Given the description of an element on the screen output the (x, y) to click on. 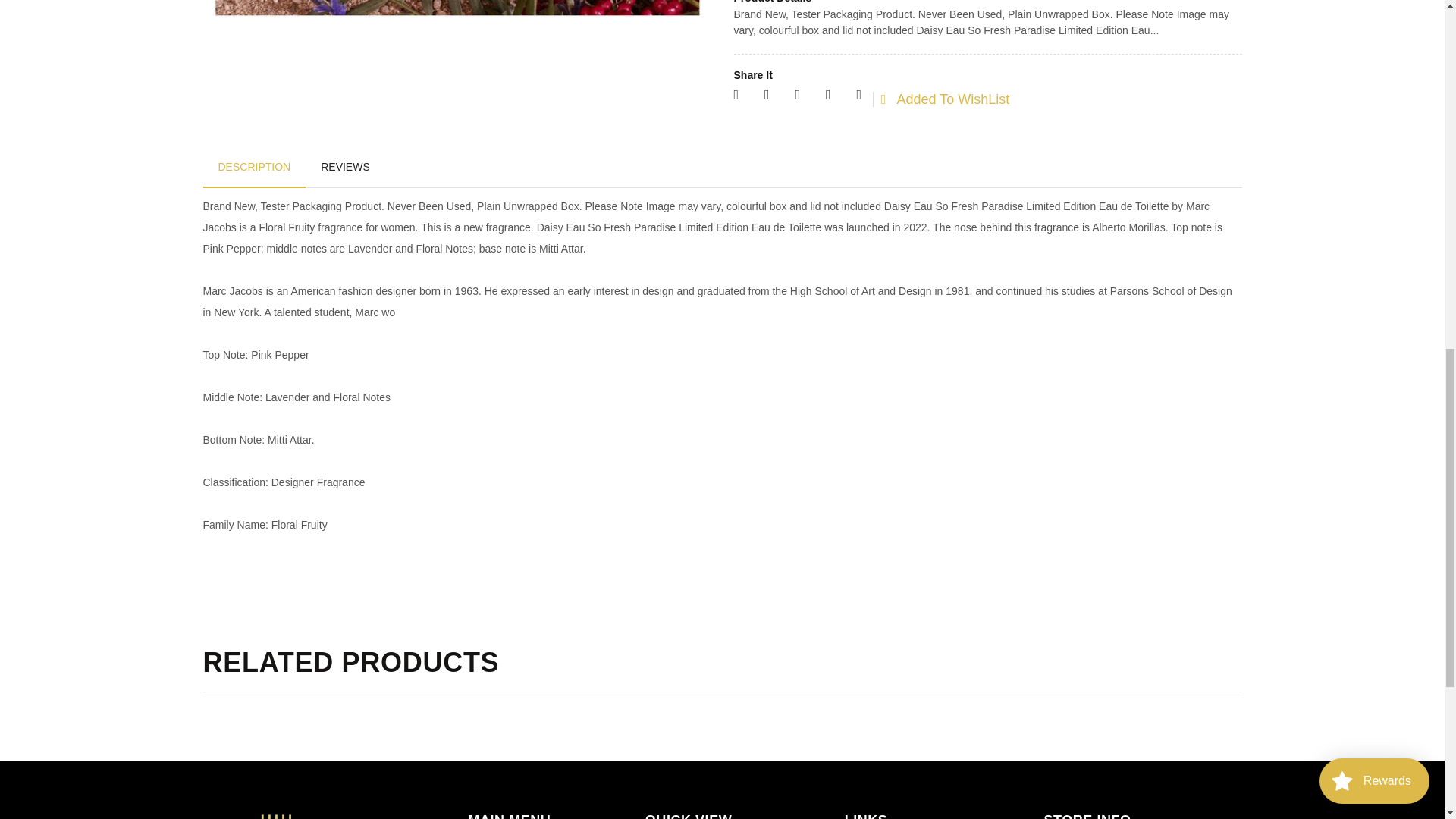
Linkedin it (858, 95)
Share (736, 95)
Tweet (796, 95)
Google it (767, 95)
Pin it (828, 95)
